Given the description of an element on the screen output the (x, y) to click on. 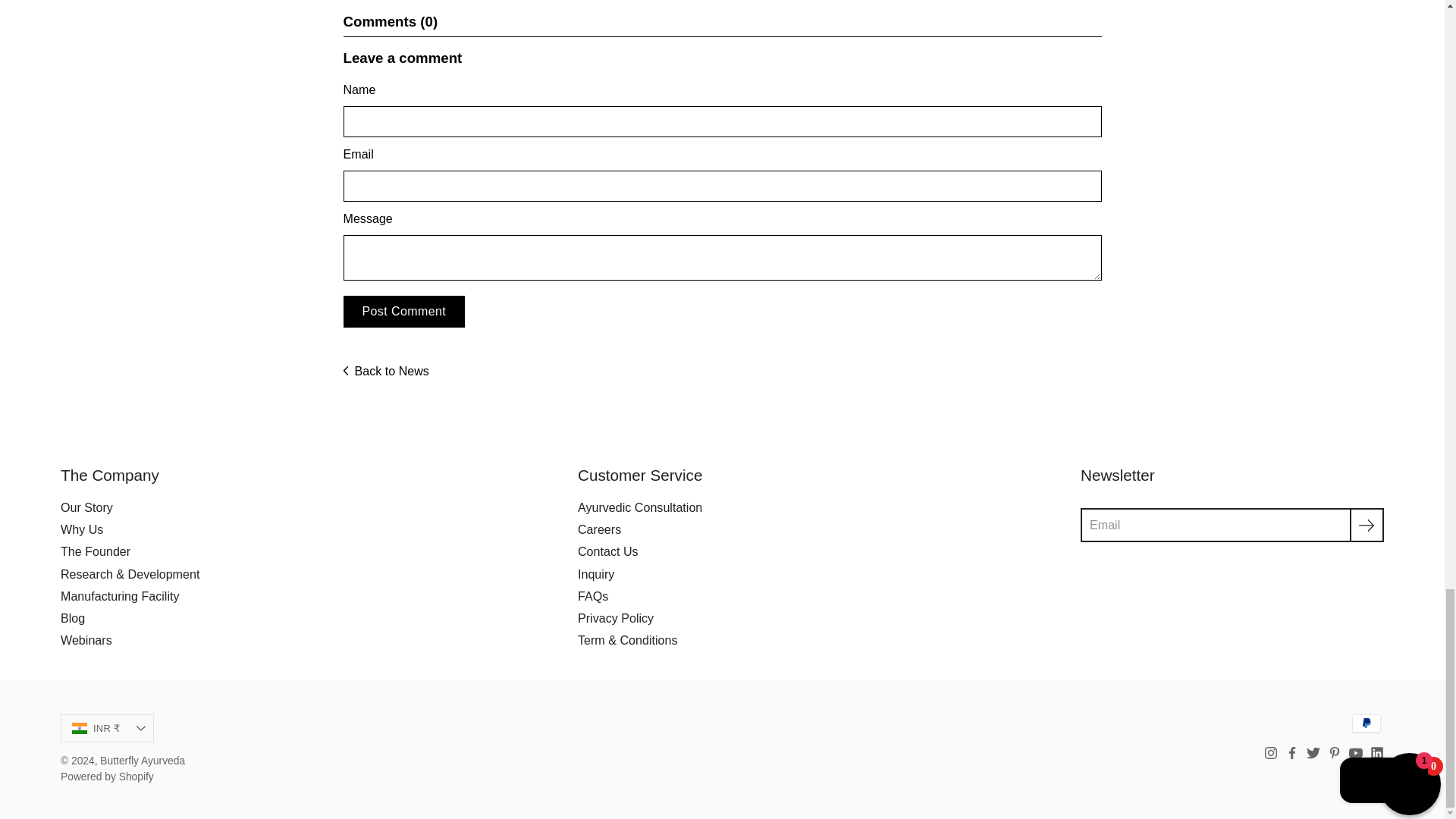
PayPal (1366, 723)
